Given the description of an element on the screen output the (x, y) to click on. 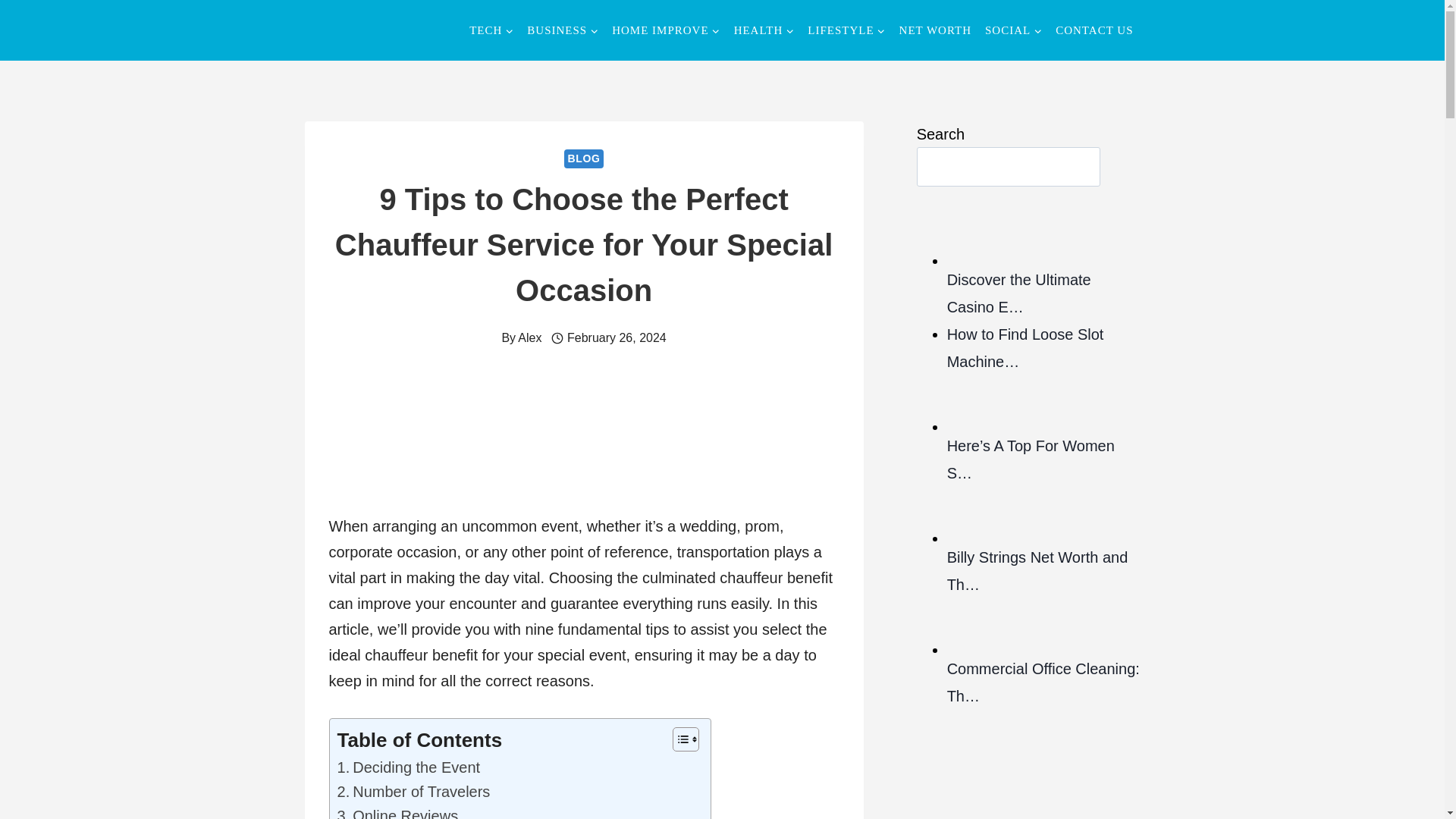
BUSINESS (562, 30)
TECH (491, 30)
Deciding the Event (408, 767)
LIFESTYLE (845, 30)
HOME IMPROVE (665, 30)
Number of Travelers (412, 791)
Online Reviews (397, 811)
HEALTH (764, 30)
